Given the description of an element on the screen output the (x, y) to click on. 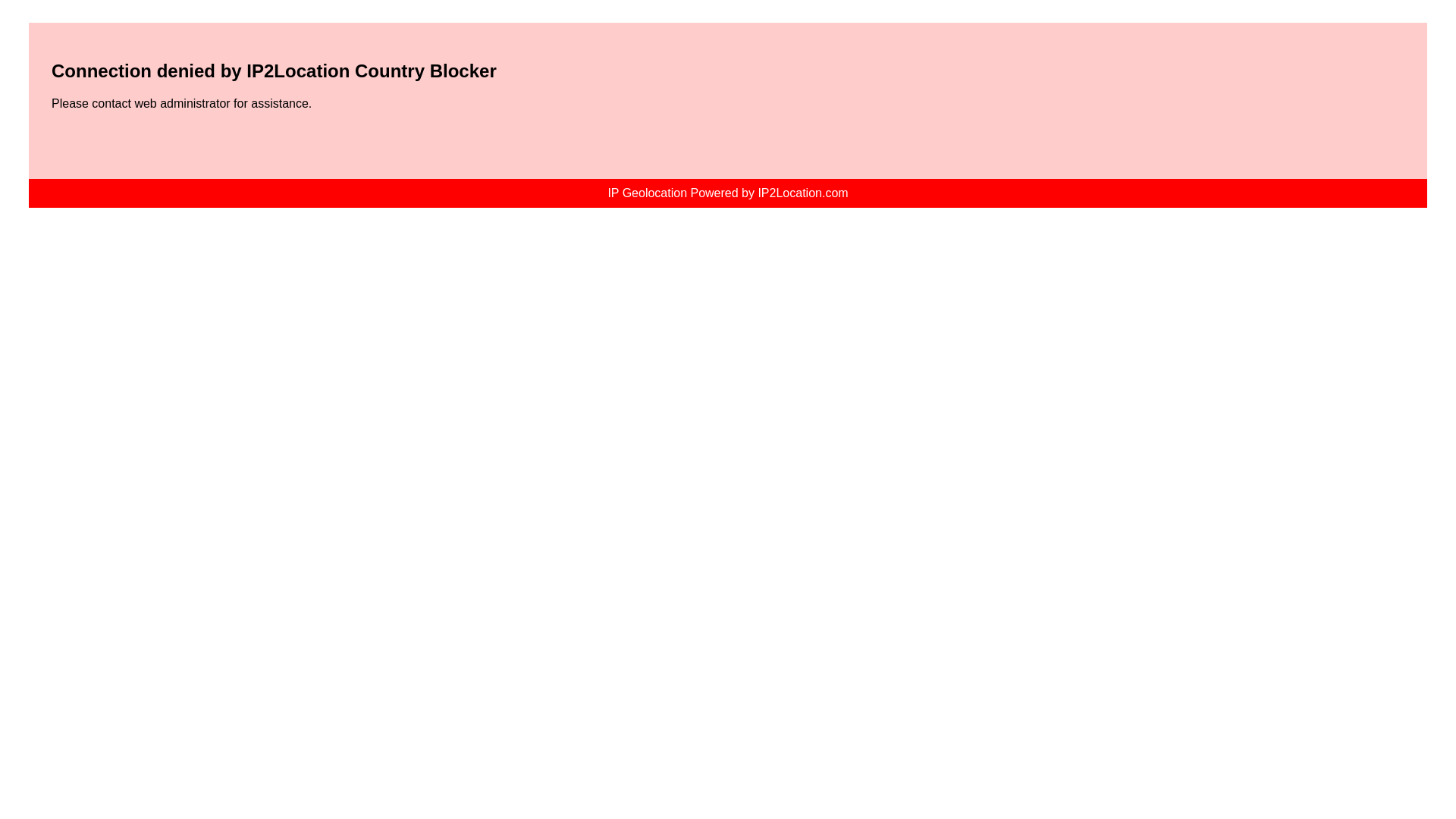
IP Geolocation Powered by IP2Location.com (727, 192)
